Given the description of an element on the screen output the (x, y) to click on. 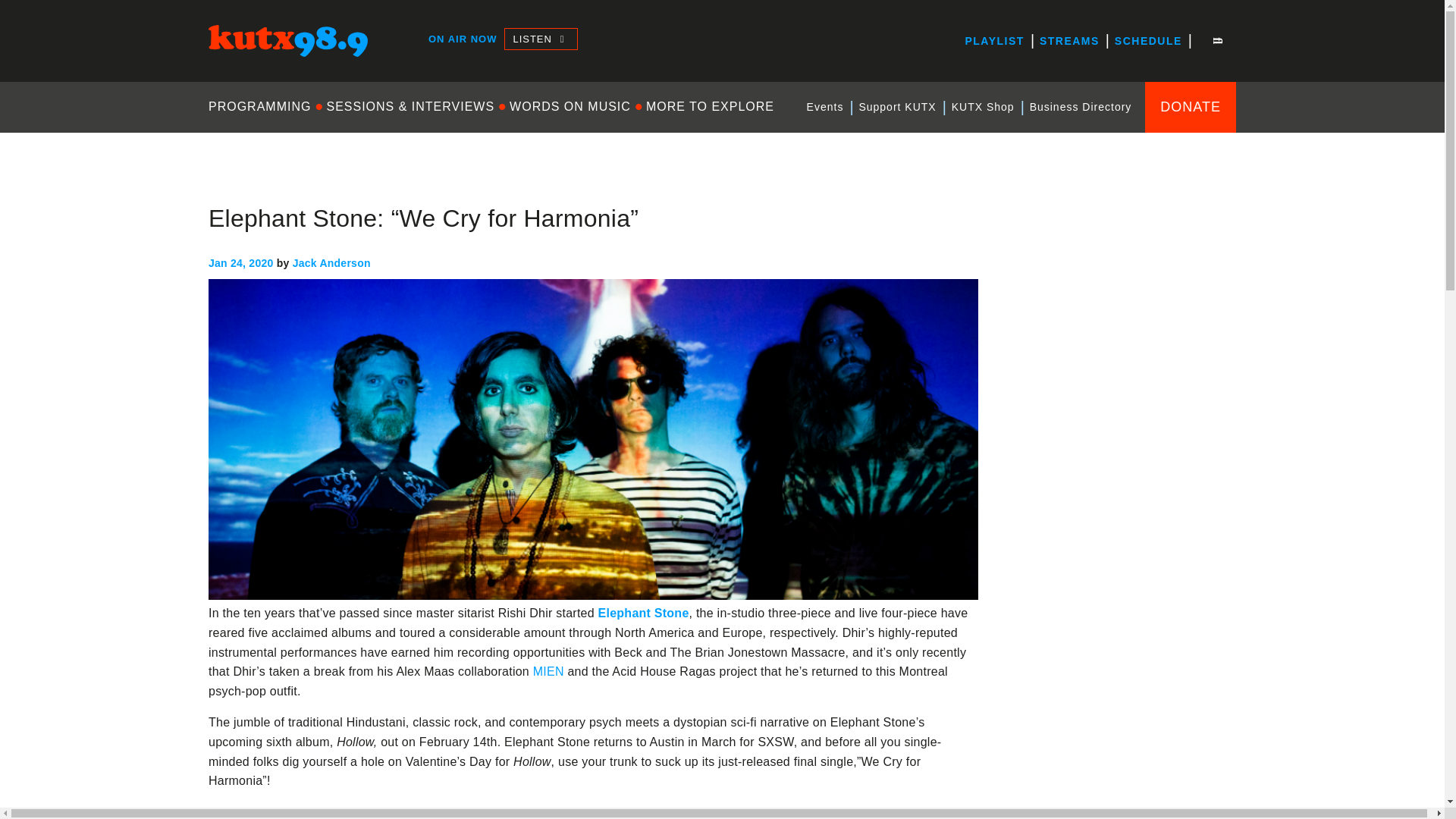
MORE TO EXPLORE (710, 106)
Events (825, 106)
SCHEDULE (1147, 40)
LISTEN (539, 38)
Support KUTX (896, 106)
Business Directory (1081, 106)
KUTX Shop (982, 106)
KUTX (224, 69)
DONATE (1190, 106)
WORDS ON MUSIC (570, 106)
PLAYLIST (993, 40)
STREAMS (1069, 40)
PROGRAMMING (263, 106)
